Given the description of an element on the screen output the (x, y) to click on. 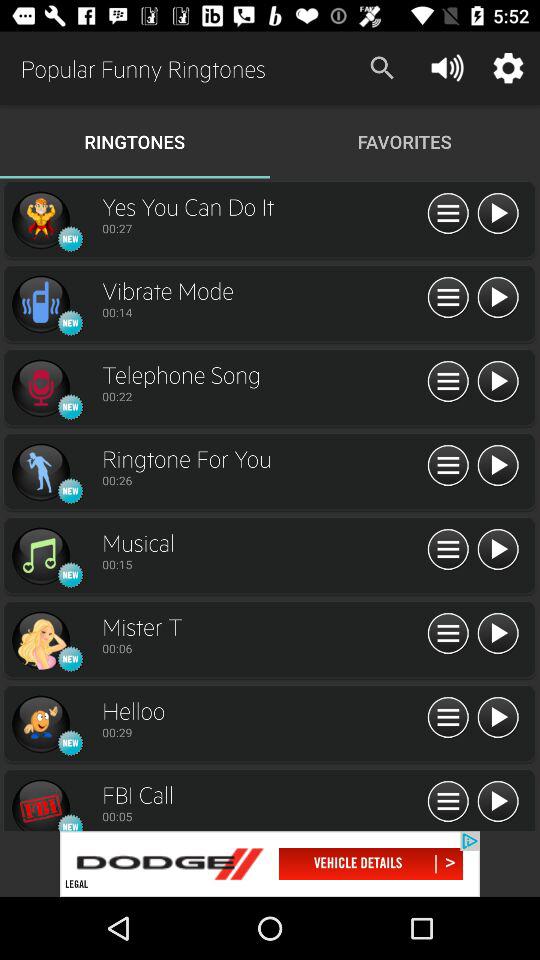
menu icon (447, 213)
